Given the description of an element on the screen output the (x, y) to click on. 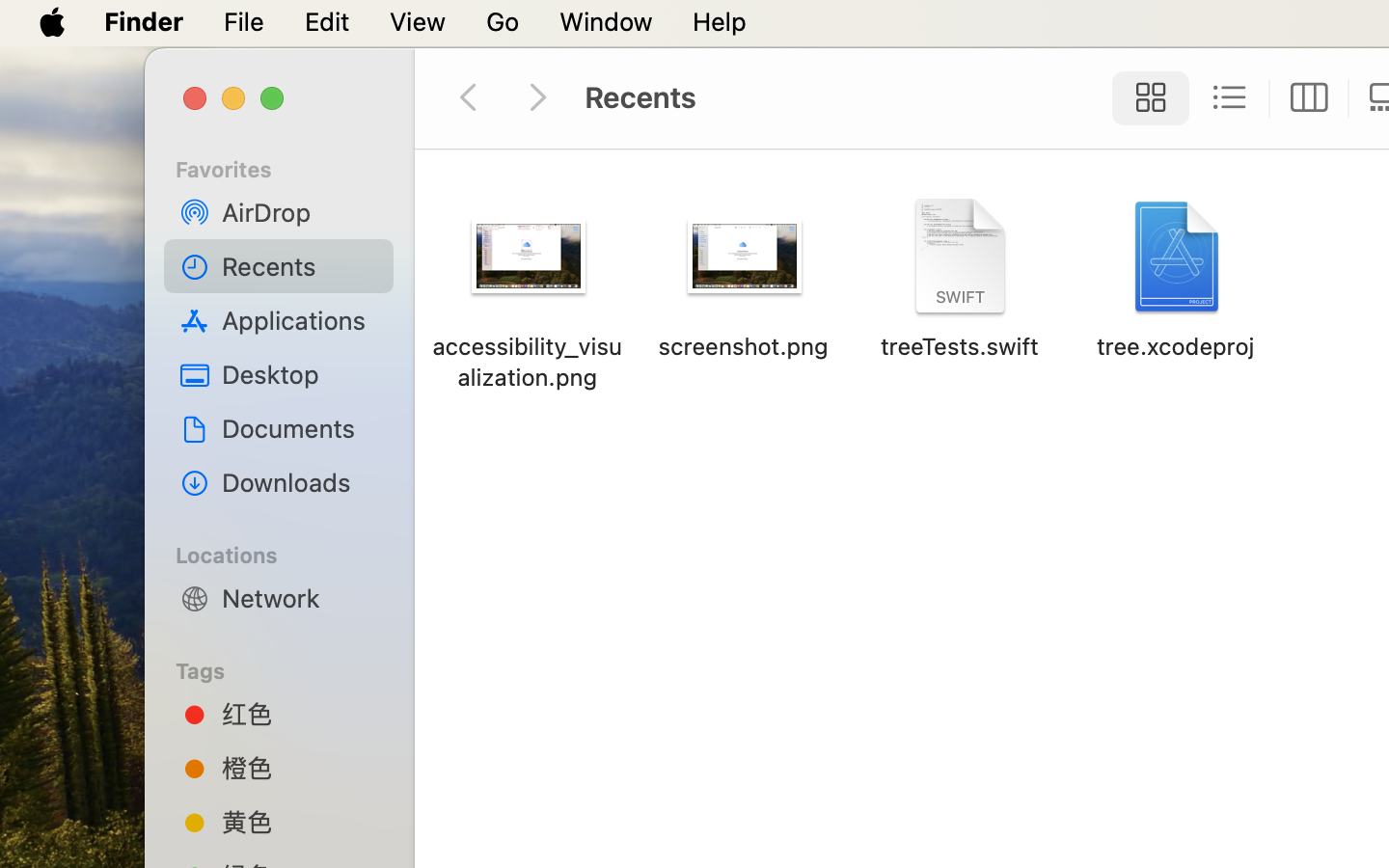
黄色 Element type: AXStaticText (299, 821)
1 Element type: AXRadioButton (1144, 97)
Documents Element type: AXStaticText (299, 427)
Favorites Element type: AXStaticText (289, 166)
Downloads Element type: AXStaticText (299, 481)
